Given the description of an element on the screen output the (x, y) to click on. 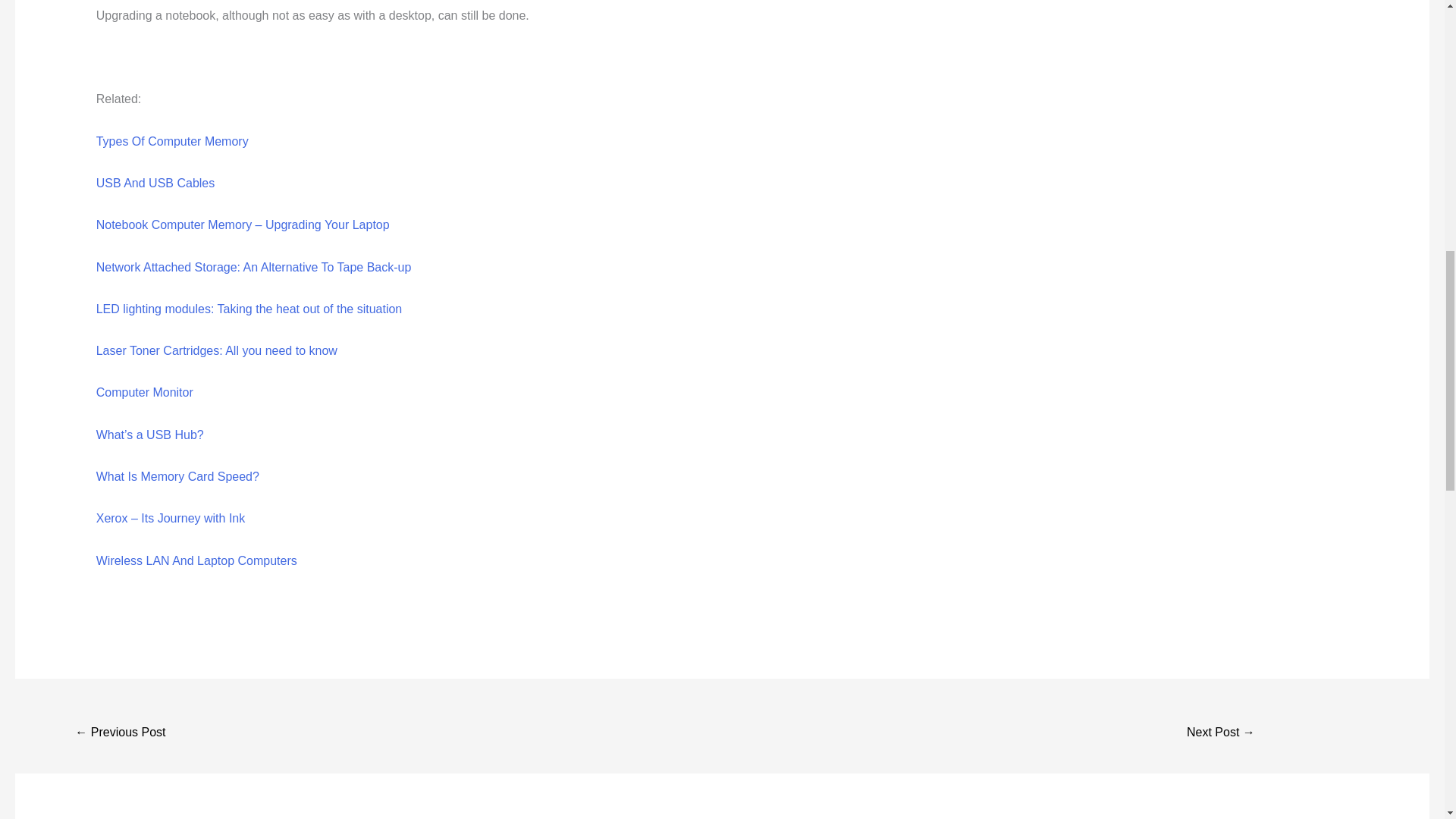
Computer Monitor (144, 391)
USB And USB Cables (155, 182)
Wireless LAN And Laptop Computers (196, 560)
What Is Memory Card Speed? (177, 476)
What's A Pen Drive? (119, 733)
Types Of Computer Memory (172, 141)
LED lighting modules: Taking the heat out of the situation (249, 308)
Network Attached Storage: An Alternative To Tape Back-up (254, 267)
The benefits of the Blu-ray disc (1220, 733)
Laser Toner Cartridges: All you need to know (216, 350)
